Given the description of an element on the screen output the (x, y) to click on. 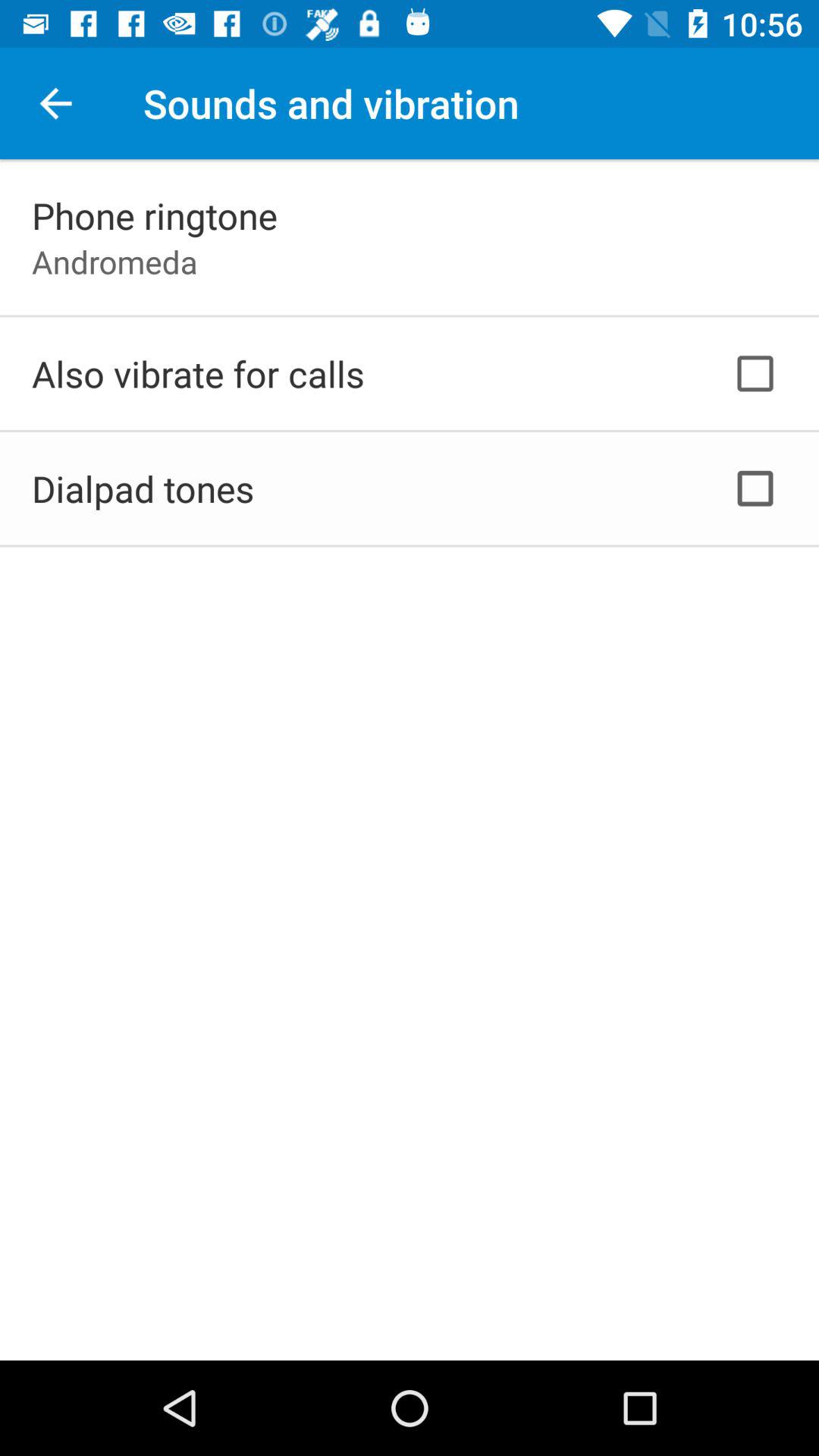
turn off icon below the andromeda app (197, 373)
